Given the description of an element on the screen output the (x, y) to click on. 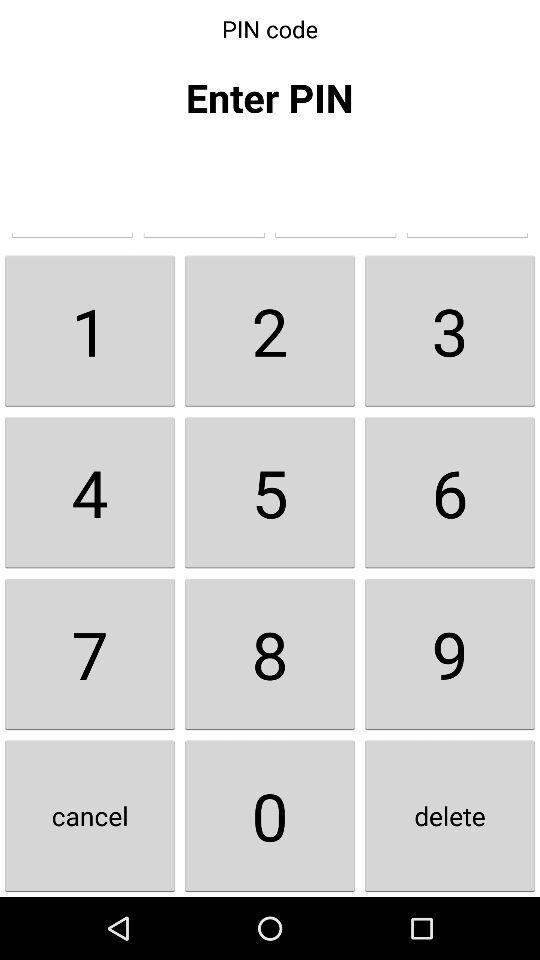
launch 9 (450, 654)
